Given the description of an element on the screen output the (x, y) to click on. 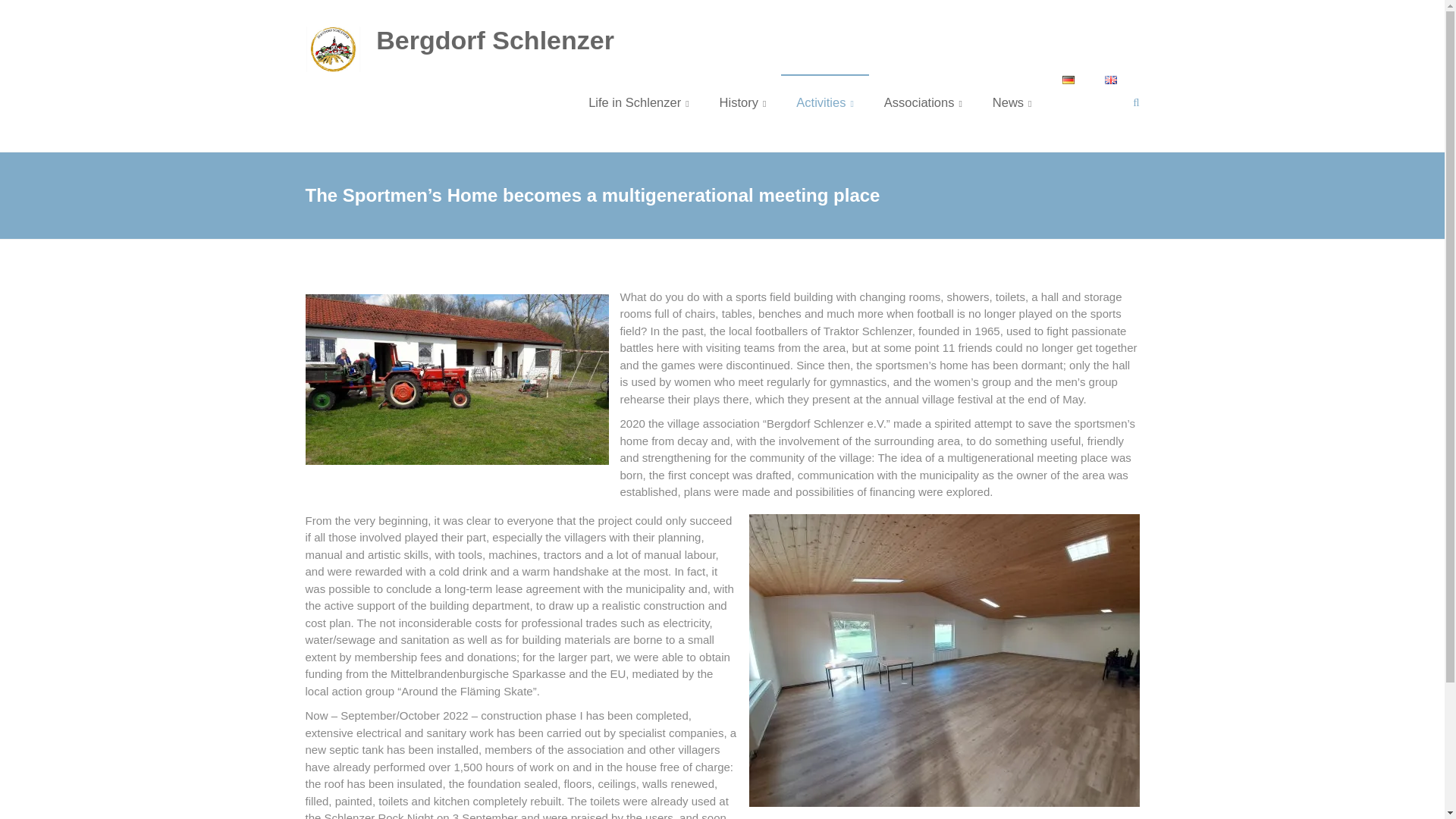
Life in Schlenzer (638, 102)
IMG-20210519-WA0005 (456, 379)
Associations (922, 102)
Bergdorf Schlenzer (494, 39)
Bergdorf Schlenzer (494, 39)
Activities (824, 102)
